Given the description of an element on the screen output the (x, y) to click on. 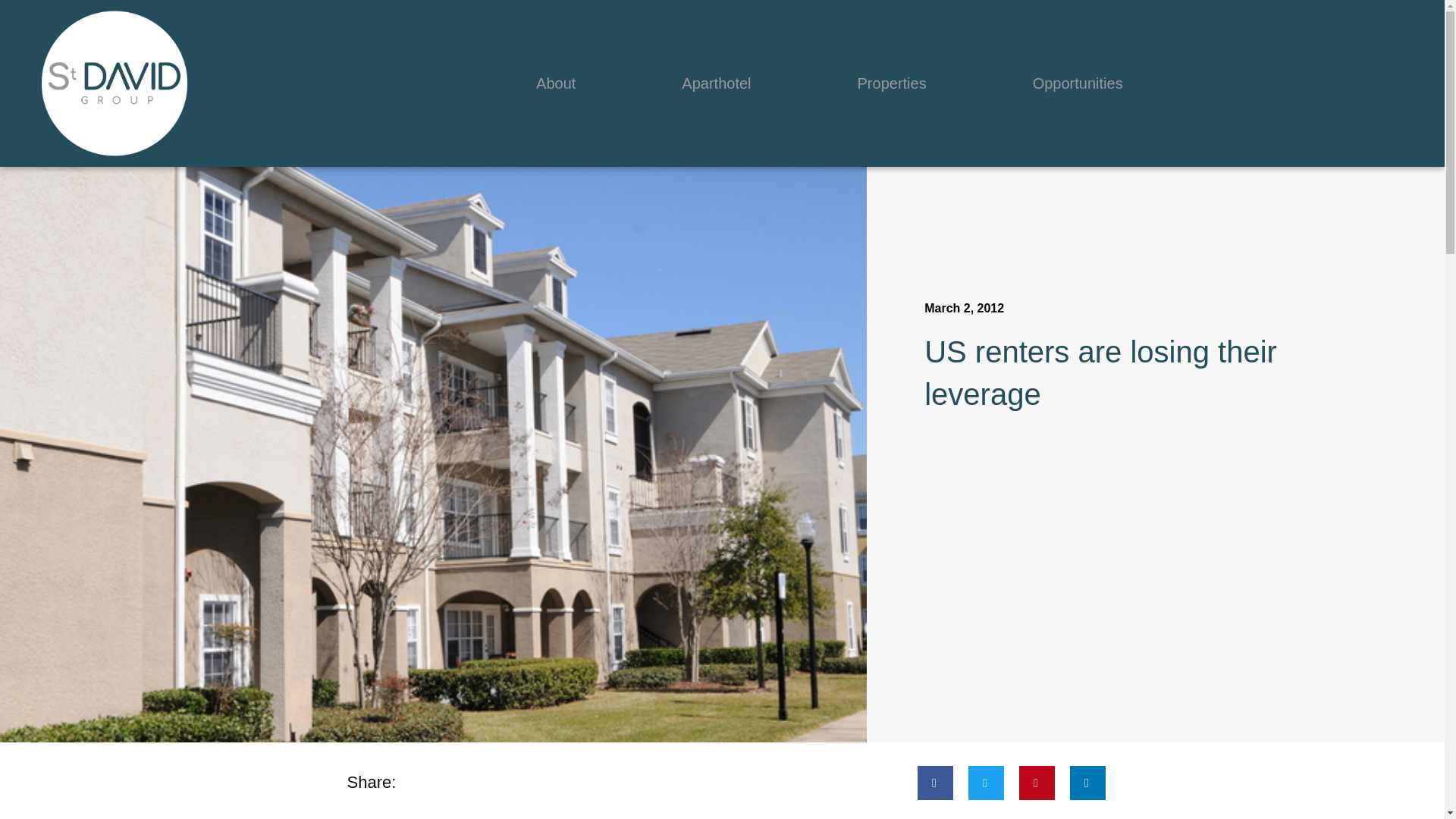
Aparthotel (715, 83)
March 2, 2012 (964, 308)
Properties (892, 83)
Opportunities (1077, 83)
About (556, 83)
